Given the description of an element on the screen output the (x, y) to click on. 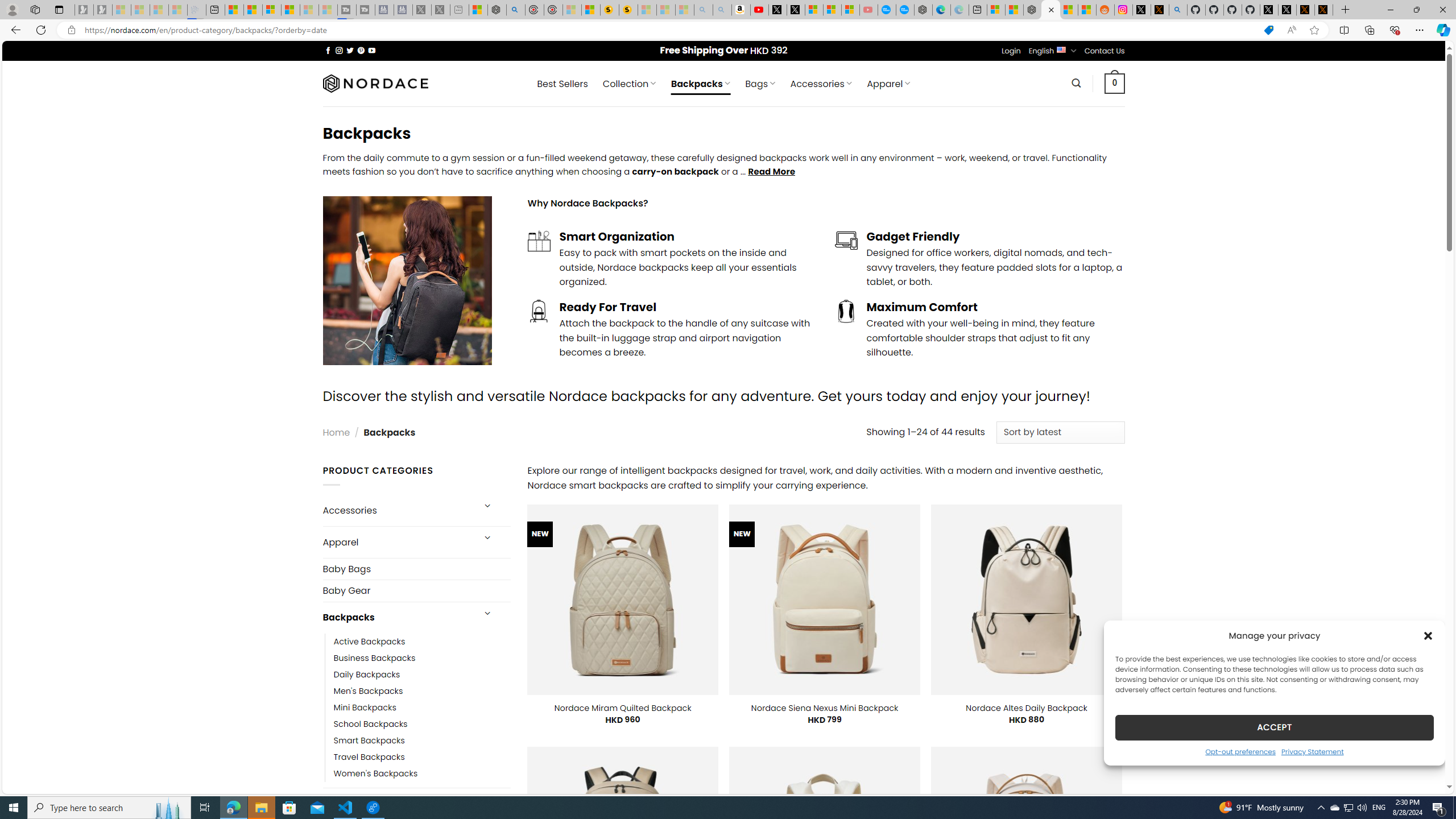
Follow on Pinterest (360, 49)
Shop order (1060, 432)
Gloom - YouTube - Sleeping (868, 9)
Women's Backpacks (422, 773)
Travel Backpacks (422, 756)
English (1061, 49)
Men's Backpacks (368, 690)
Microsoft account | Microsoft Account Privacy Settings (996, 9)
